Given the description of an element on the screen output the (x, y) to click on. 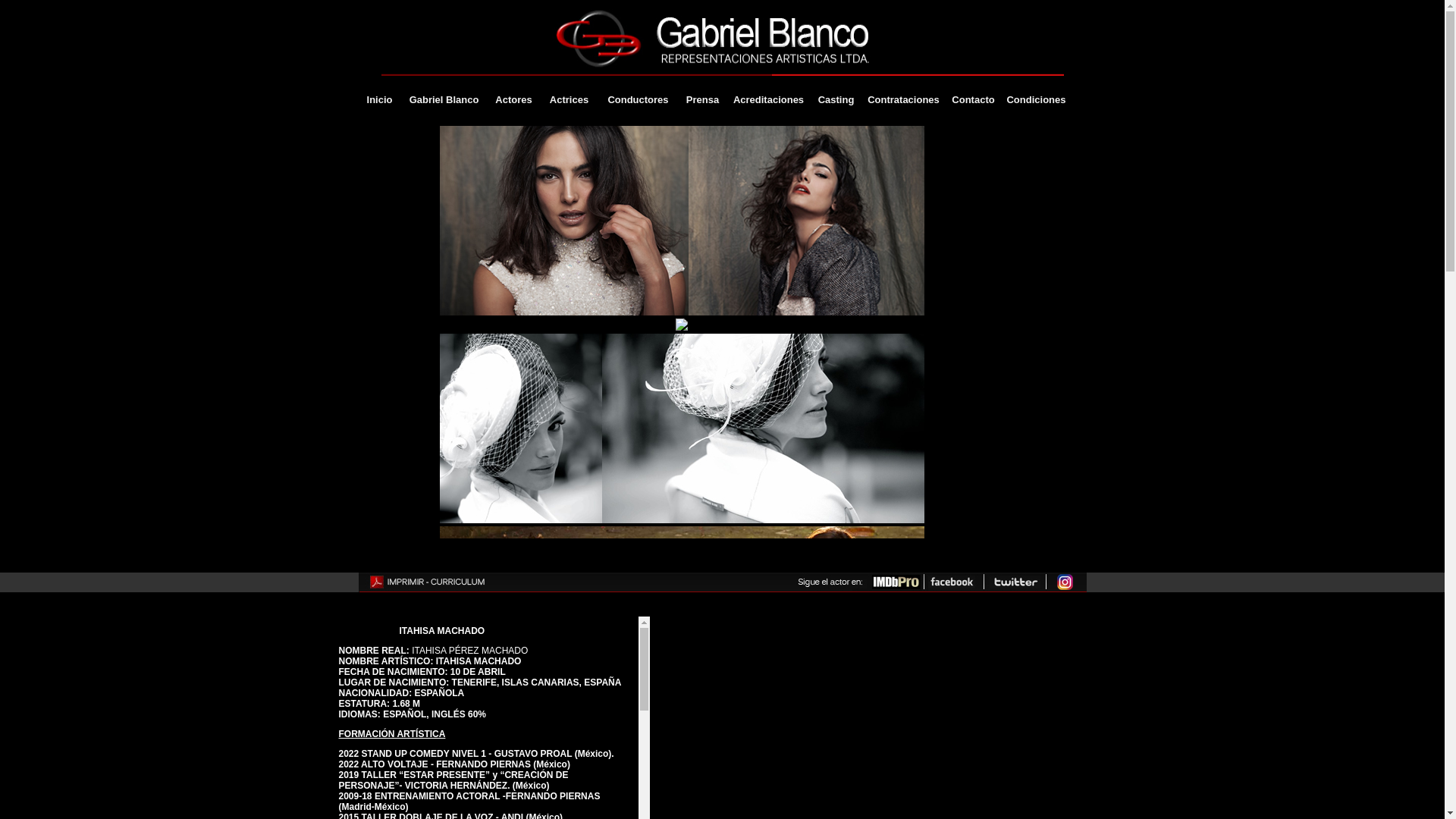
Actrices Element type: text (568, 99)
Gabriel Blanco Element type: text (443, 99)
Conductores Element type: text (637, 99)
Contrataciones Element type: text (902, 99)
Inicio Element type: text (378, 99)
Actores Element type: text (512, 99)
Condiciones Element type: text (1035, 99)
Contacto Element type: text (972, 99)
Acreditaciones Element type: text (767, 99)
Casting Element type: text (835, 99)
Prensa Element type: text (701, 99)
